Given the description of an element on the screen output the (x, y) to click on. 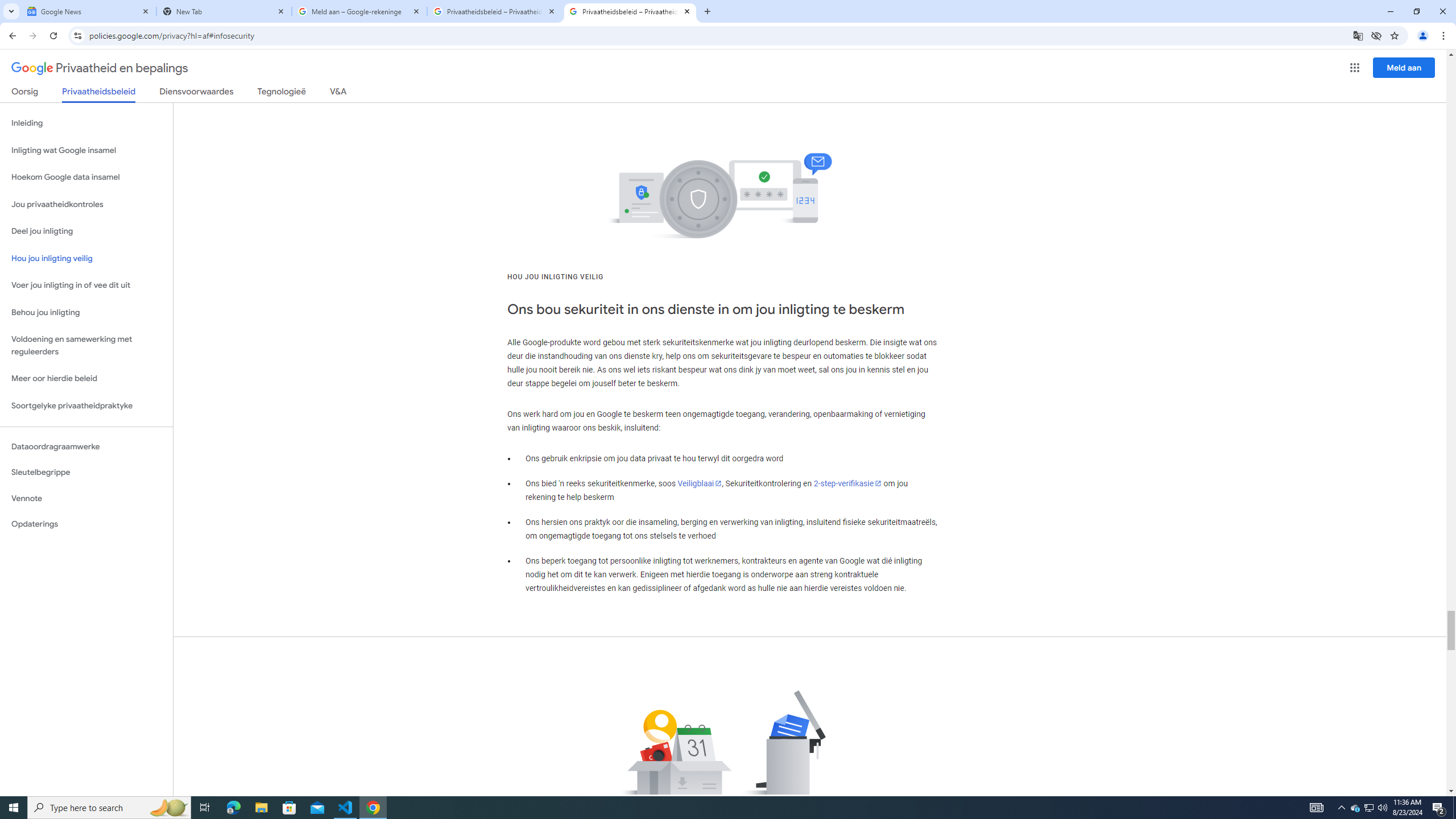
Jou privaatheidkontroles (86, 204)
Inleiding (86, 122)
Opdaterings (86, 524)
Meld aan (1404, 67)
Sleutelbegrippe (86, 472)
2-step-verifikasie (847, 483)
Inligting wat Google insamel (86, 150)
Dataoordragraamwerke (86, 446)
Behou jou inligting (86, 312)
Google-programme (1355, 67)
